Given the description of an element on the screen output the (x, y) to click on. 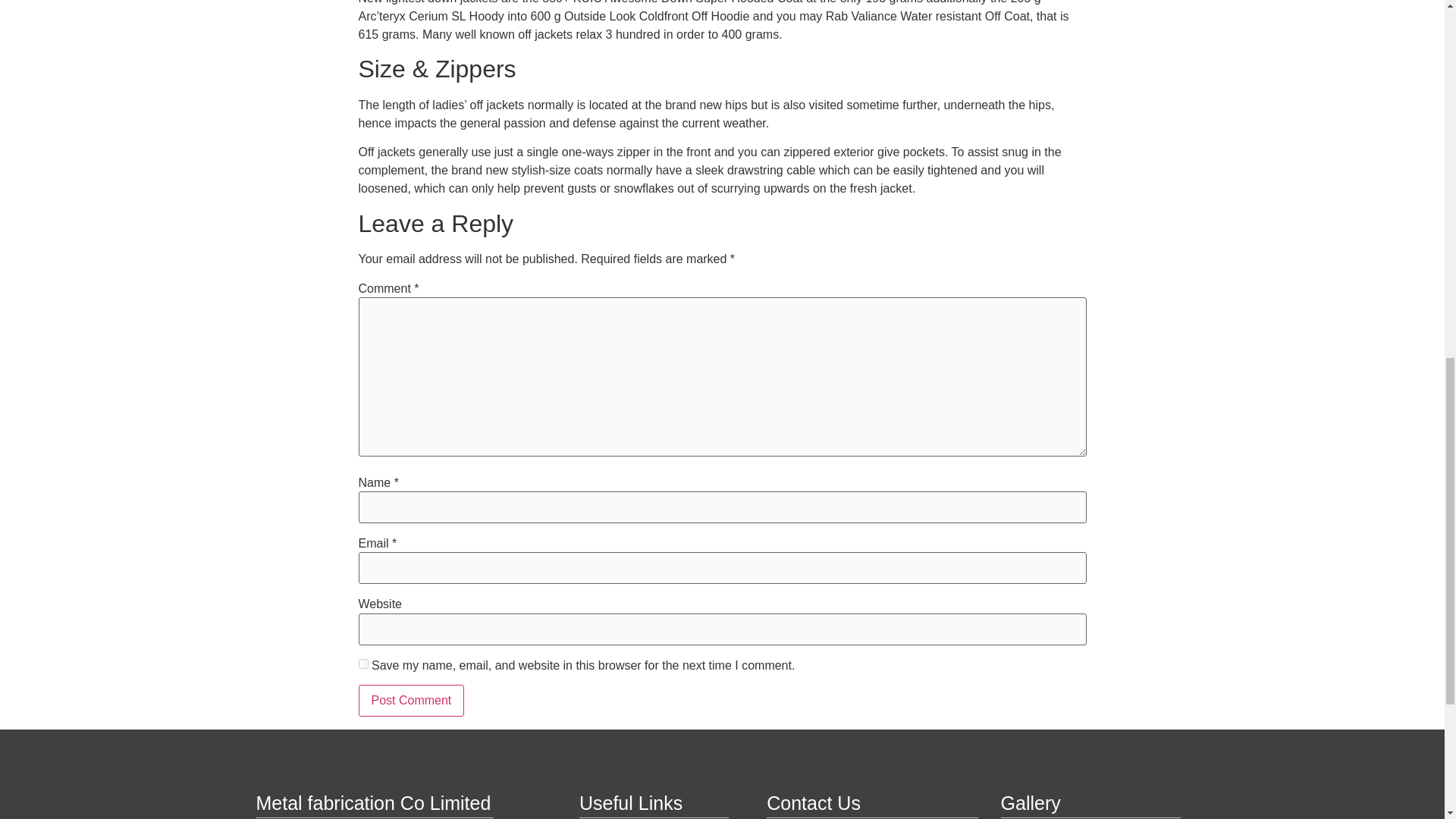
Post Comment (411, 700)
Post Comment (411, 700)
yes (363, 664)
